Given the description of an element on the screen output the (x, y) to click on. 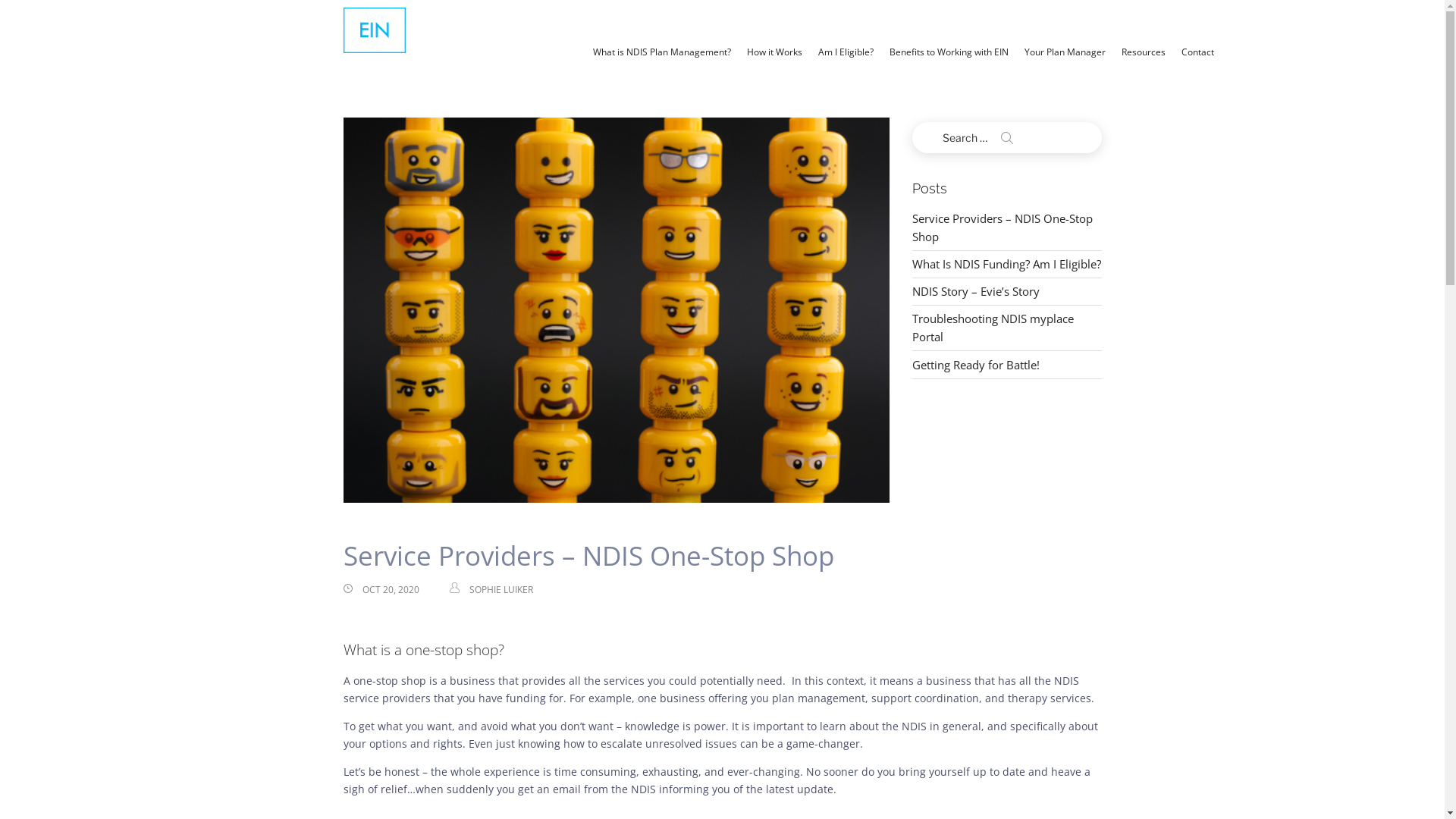
What is NDIS Plan Management? Element type: text (662, 51)
EIN Element type: text (372, 29)
How it Works Element type: text (774, 51)
Your Plan Manager Element type: text (1064, 51)
Search Element type: text (1006, 137)
Benefits to Working with EIN Element type: text (948, 51)
What Is NDIS Funding? Am I Eligible? Element type: text (1005, 263)
Resources Element type: text (1143, 51)
Troubleshooting NDIS myplace Portal Element type: text (992, 327)
Am I Eligible? Element type: text (845, 51)
Contact Element type: text (1197, 51)
Getting Ready for Battle! Element type: text (974, 364)
